Given the description of an element on the screen output the (x, y) to click on. 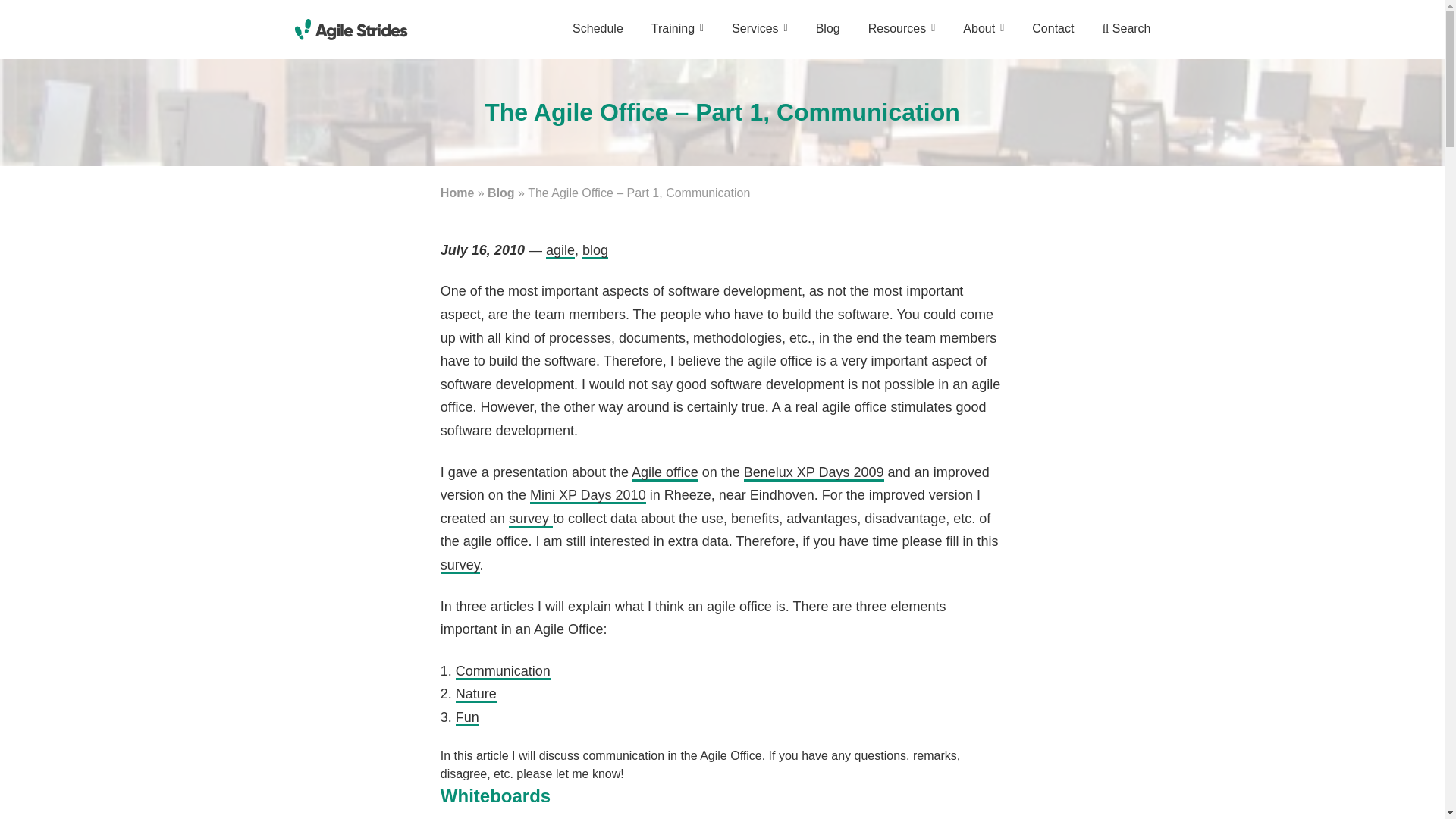
Contact (1053, 37)
blog (595, 250)
Agile office (664, 473)
Fun (467, 718)
Training (676, 37)
Mini XP Days 2010 (587, 495)
survey (460, 565)
agile (560, 250)
About (983, 37)
Communication (502, 671)
survey (530, 519)
Nature (475, 694)
blog (595, 250)
agile (560, 250)
Resources (901, 37)
